Given the description of an element on the screen output the (x, y) to click on. 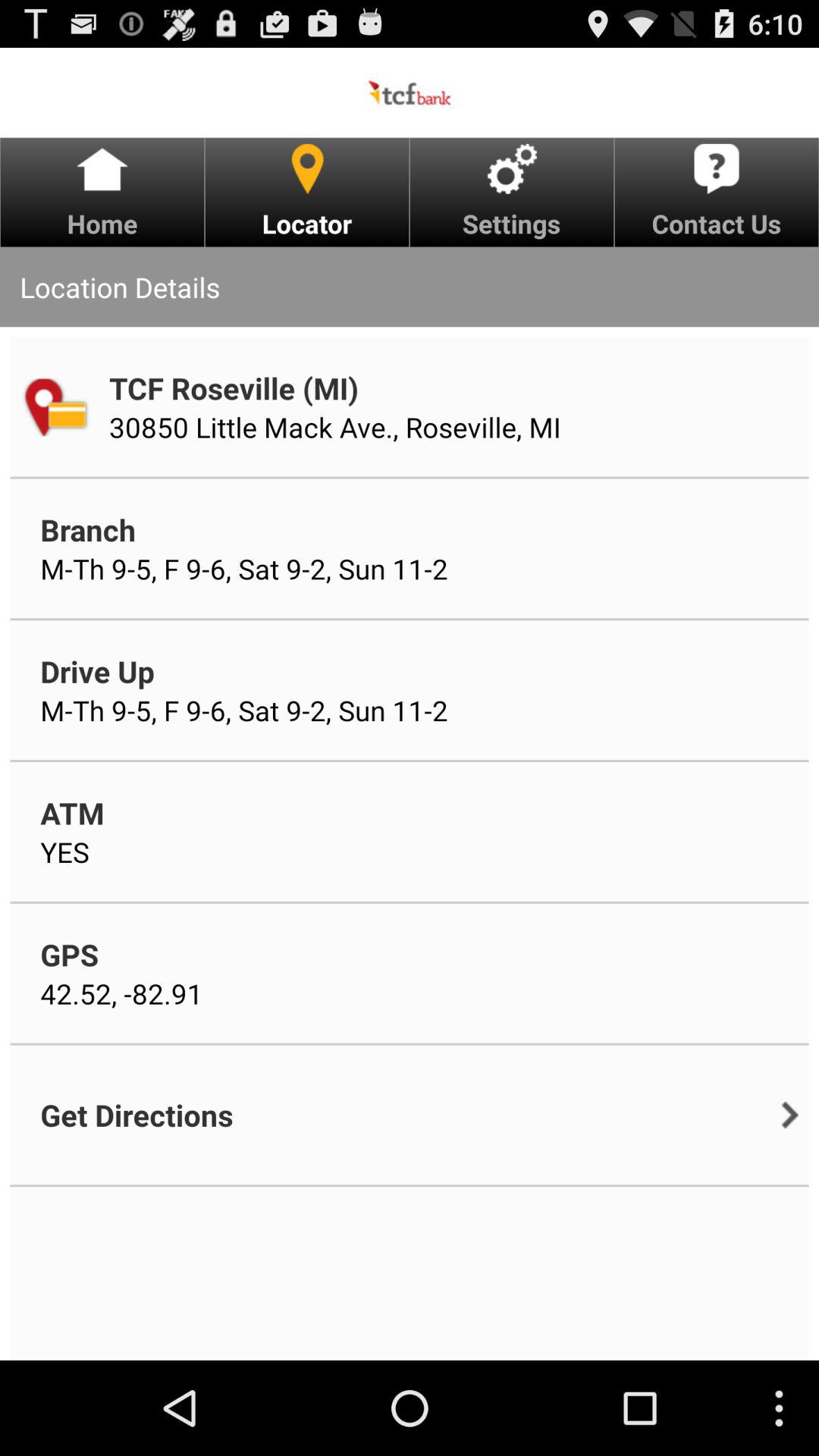
tap the item below m th 9 icon (97, 671)
